Given the description of an element on the screen output the (x, y) to click on. 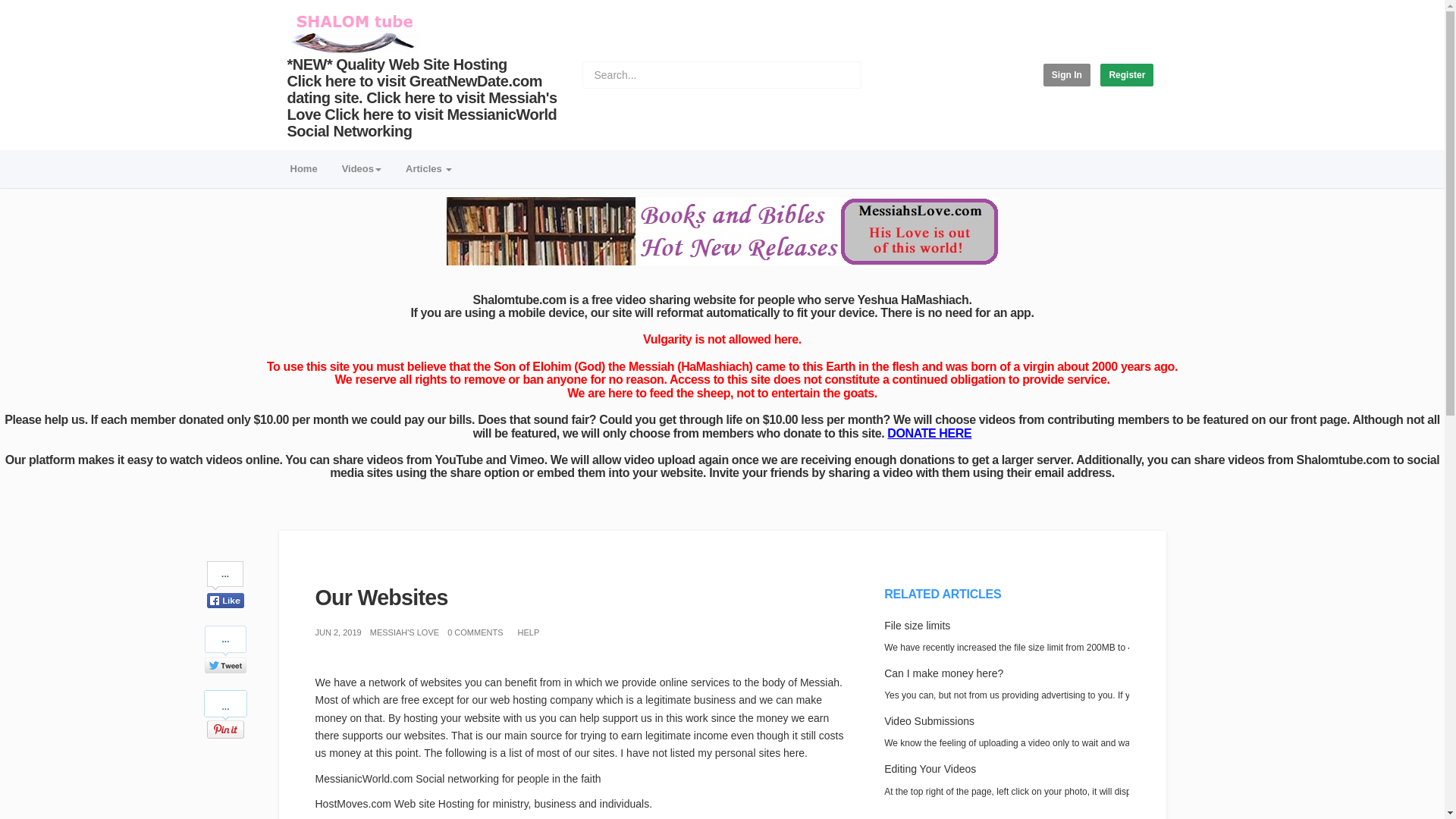
Editing Your Videos (929, 768)
Sign In (1066, 74)
Register (1126, 74)
Home (304, 169)
Can I make money here? (943, 673)
Sunday, June 2, 2019 4:16 PM (338, 632)
Video Submissions (928, 720)
Videos (361, 169)
Shalom Tube (352, 33)
Click here to visit MessianicWorld Social Networking (421, 122)
